Given the description of an element on the screen output the (x, y) to click on. 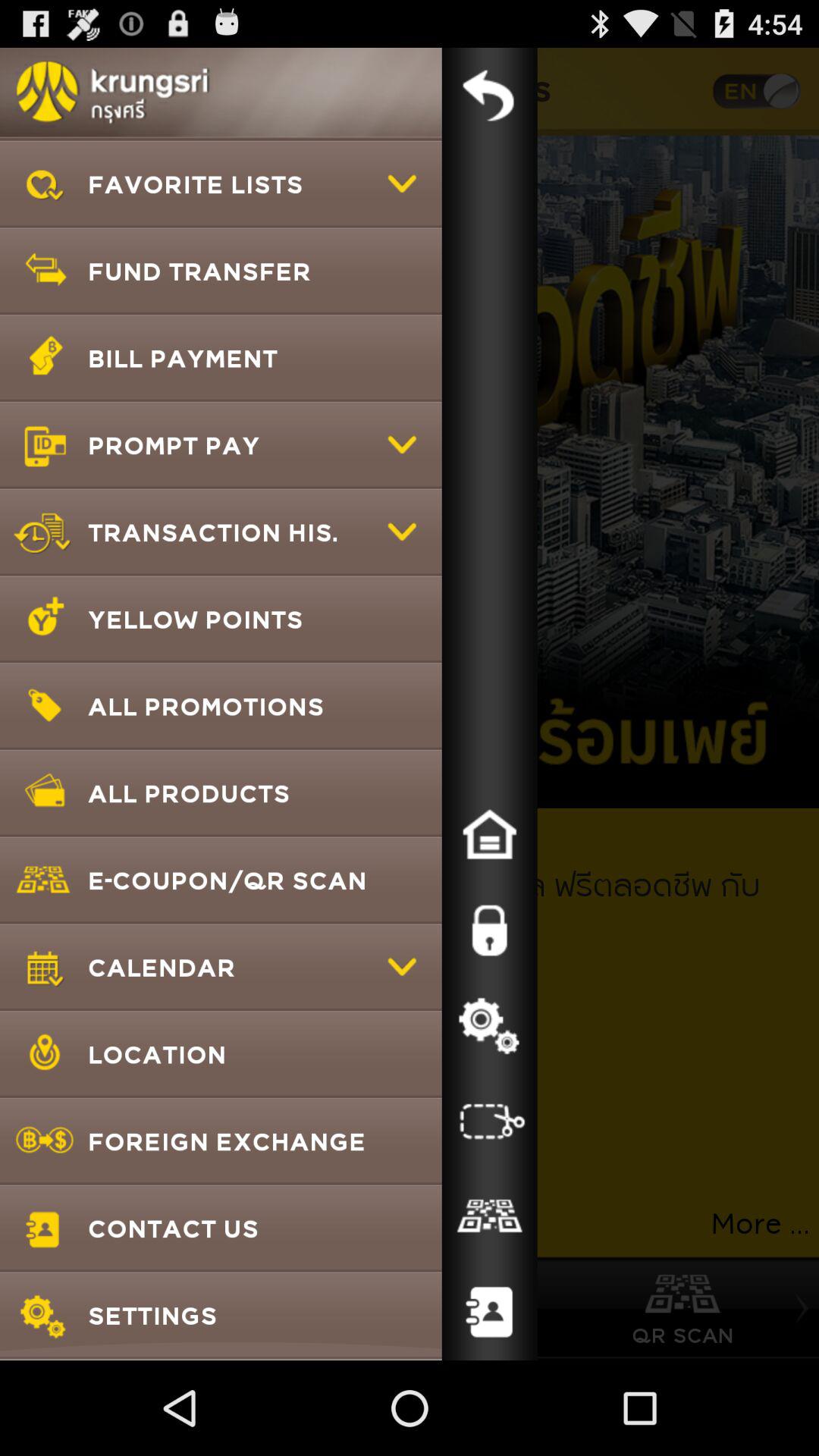
turn off item next to the location icon (489, 1121)
